Given the description of an element on the screen output the (x, y) to click on. 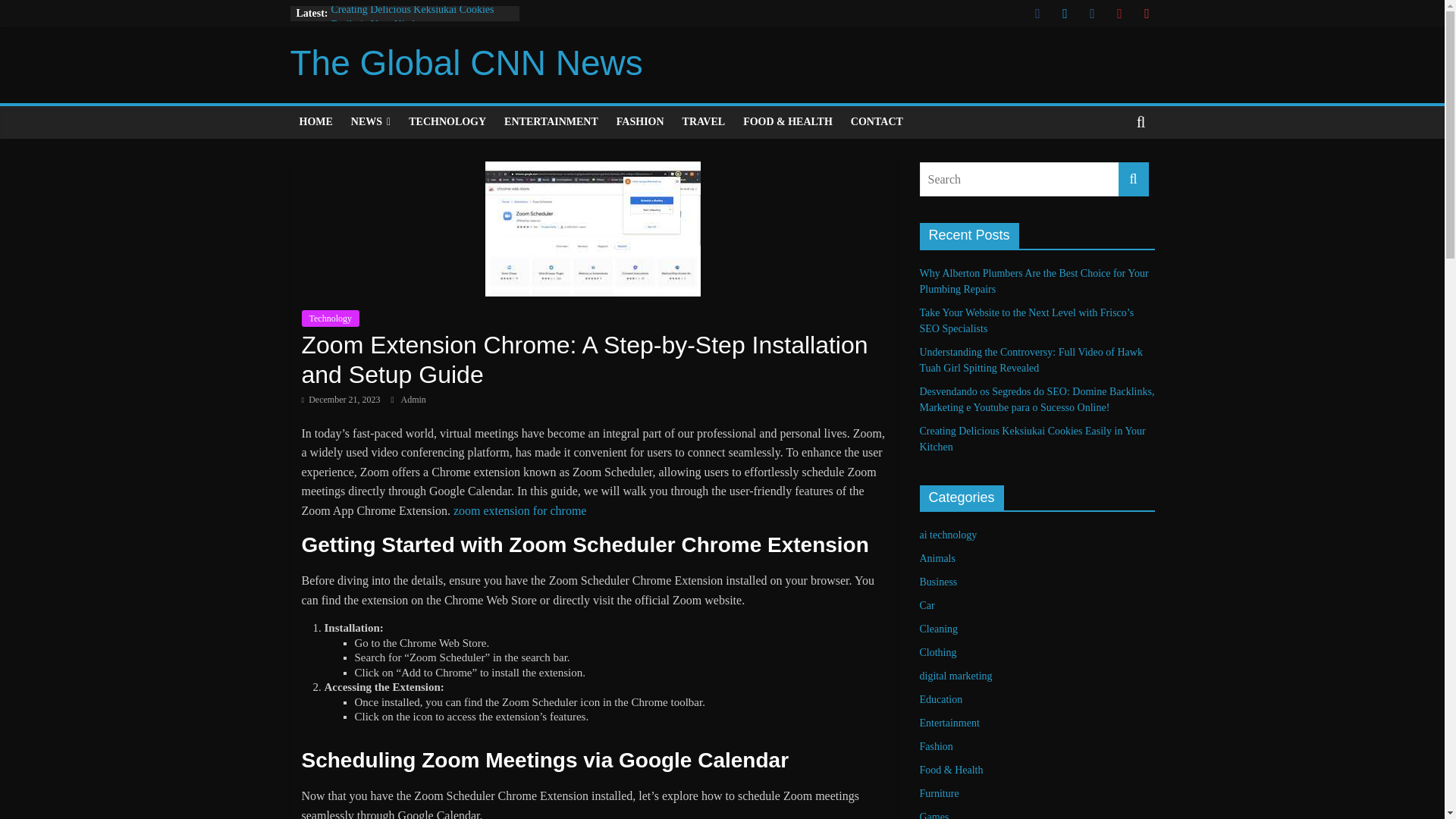
Creating Delicious Keksiukai Cookies Easily in Your Kitchen (411, 17)
December 21, 2023 (340, 398)
Creating Delicious Keksiukai Cookies Easily in Your Kitchen (411, 17)
CONTACT (876, 122)
HOME (314, 122)
TRAVEL (703, 122)
ENTERTAINMENT (551, 122)
Creating Delicious Keksiukai Cookies Easily in Your Kitchen (1031, 438)
Admin (412, 398)
The Global CNN News (465, 62)
FASHION (639, 122)
ai technology (947, 534)
NEWS (370, 122)
